Given the description of an element on the screen output the (x, y) to click on. 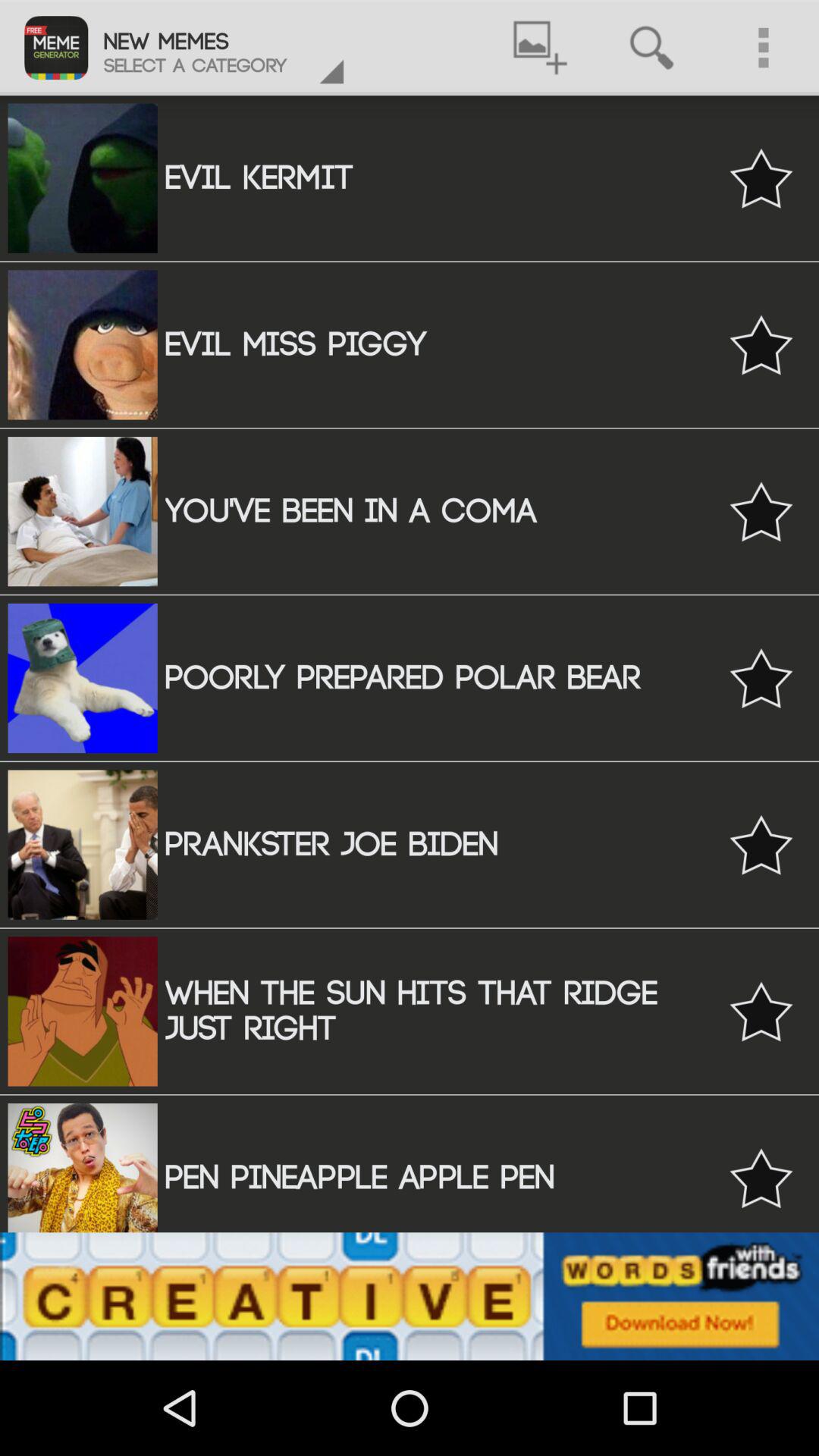
favorite (761, 178)
